Given the description of an element on the screen output the (x, y) to click on. 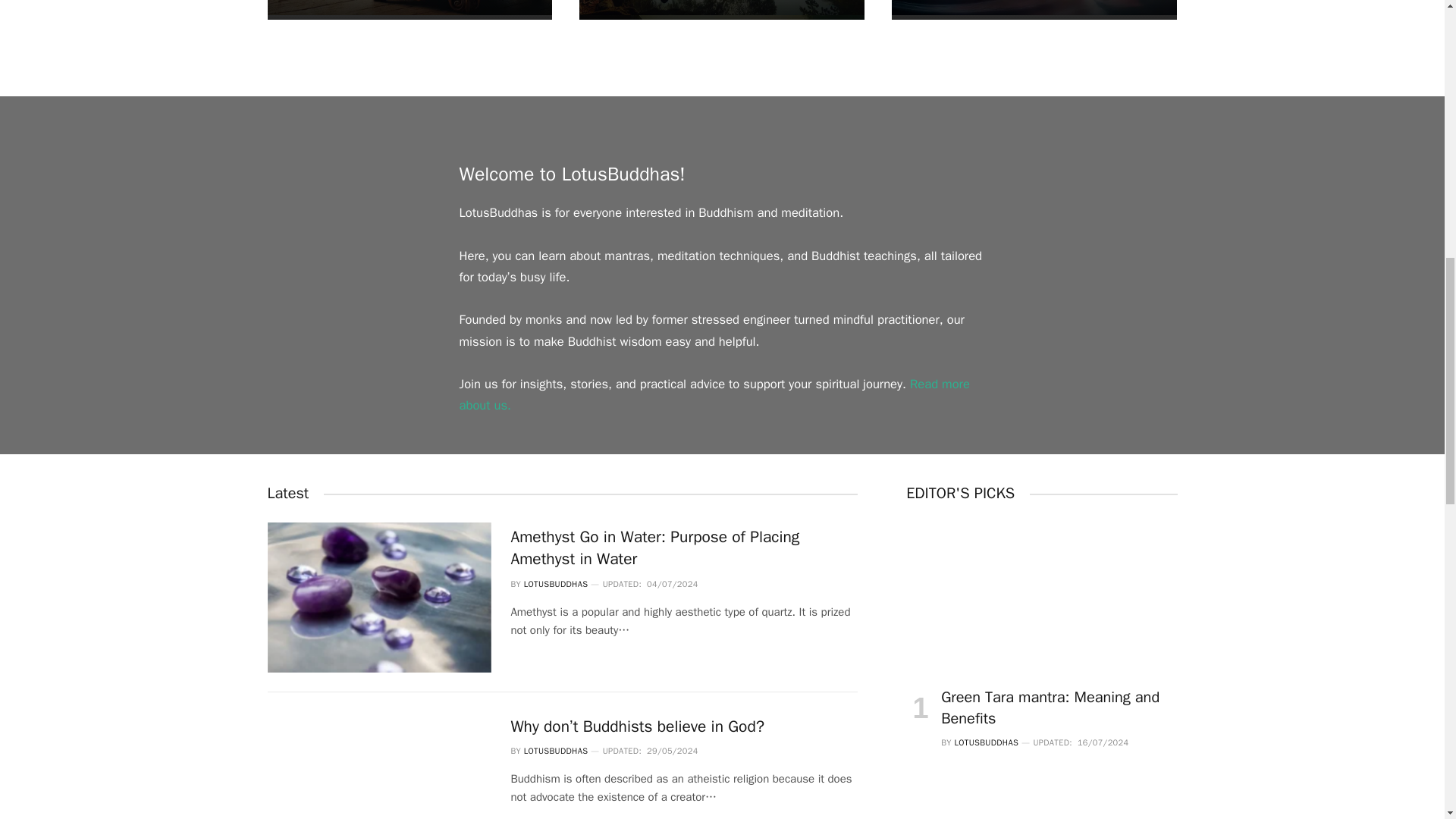
LOTUSBUDDHAS (556, 750)
Posts by LotusBuddhas (556, 750)
LOTUSBUDDHAS (556, 583)
Mantras (408, 9)
Amethyst Go in Water: Purpose of Placing Amethyst in Water (684, 547)
Meditation (721, 9)
Posts by LotusBuddhas (556, 583)
Spirituality (1033, 9)
Read more about us. (714, 394)
Amethyst Go in Water: Purpose of Placing Amethyst in Water (379, 596)
